Given the description of an element on the screen output the (x, y) to click on. 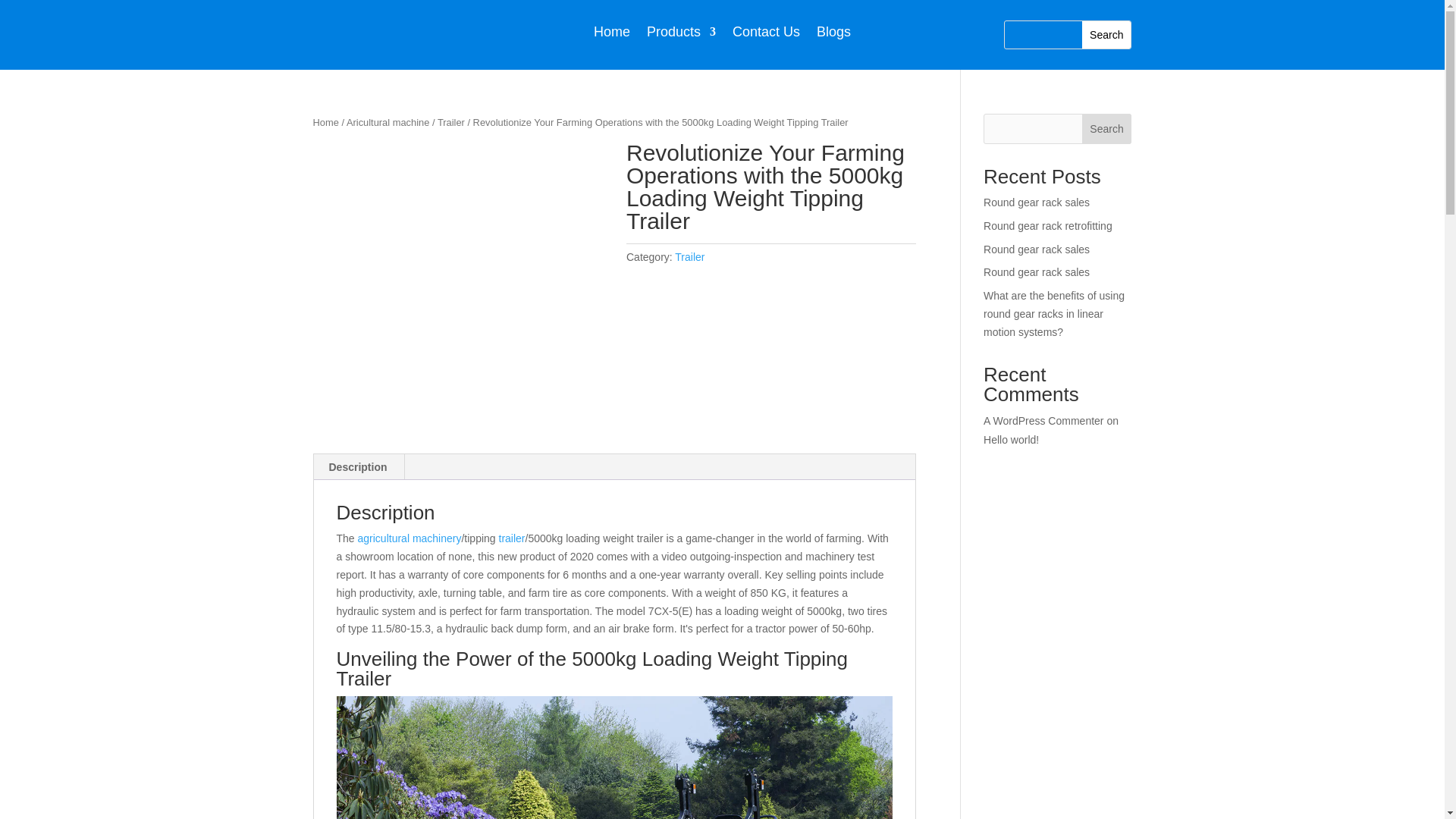
Search (1106, 34)
Home (612, 34)
Description (358, 466)
Posts tagged with Agricultural Machinery (409, 538)
Home (325, 122)
Search (1106, 34)
Contact Us (765, 34)
Trailer (451, 122)
trailer (512, 538)
Blogs (833, 34)
Posts tagged with Trailer (512, 538)
Search (1106, 34)
Products (681, 34)
Aricultural machine (387, 122)
agricultural machinery (409, 538)
